Given the description of an element on the screen output the (x, y) to click on. 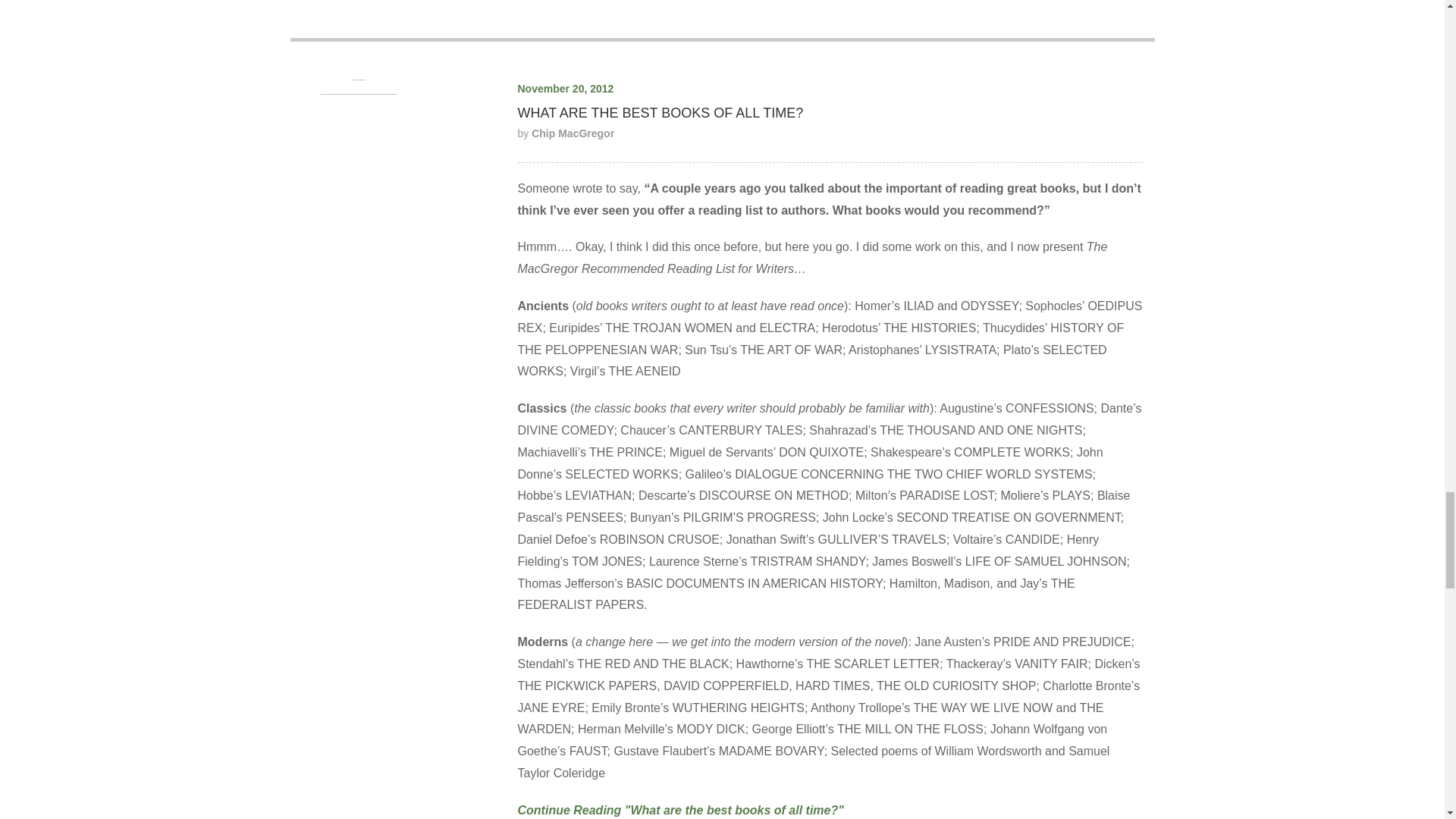
Posts by Chip MacGregor (572, 133)
